Given the description of an element on the screen output the (x, y) to click on. 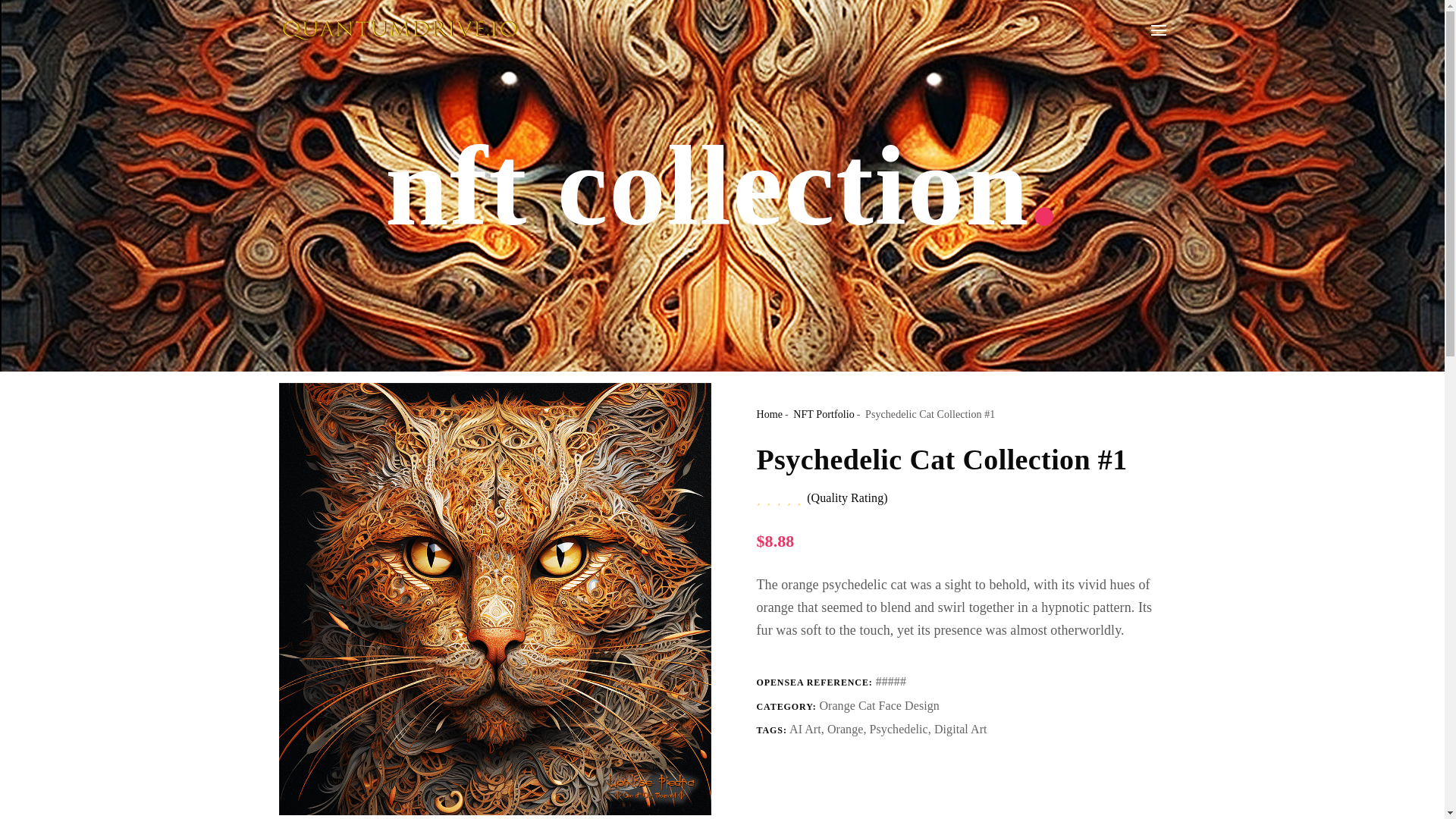
NFT Portfolio (823, 414)
Home (770, 414)
AI Art, (808, 728)
Digital Art (960, 728)
Orange Cat Face Design (878, 705)
Orange, (848, 728)
Psychedelic, (901, 728)
